Given the description of an element on the screen output the (x, y) to click on. 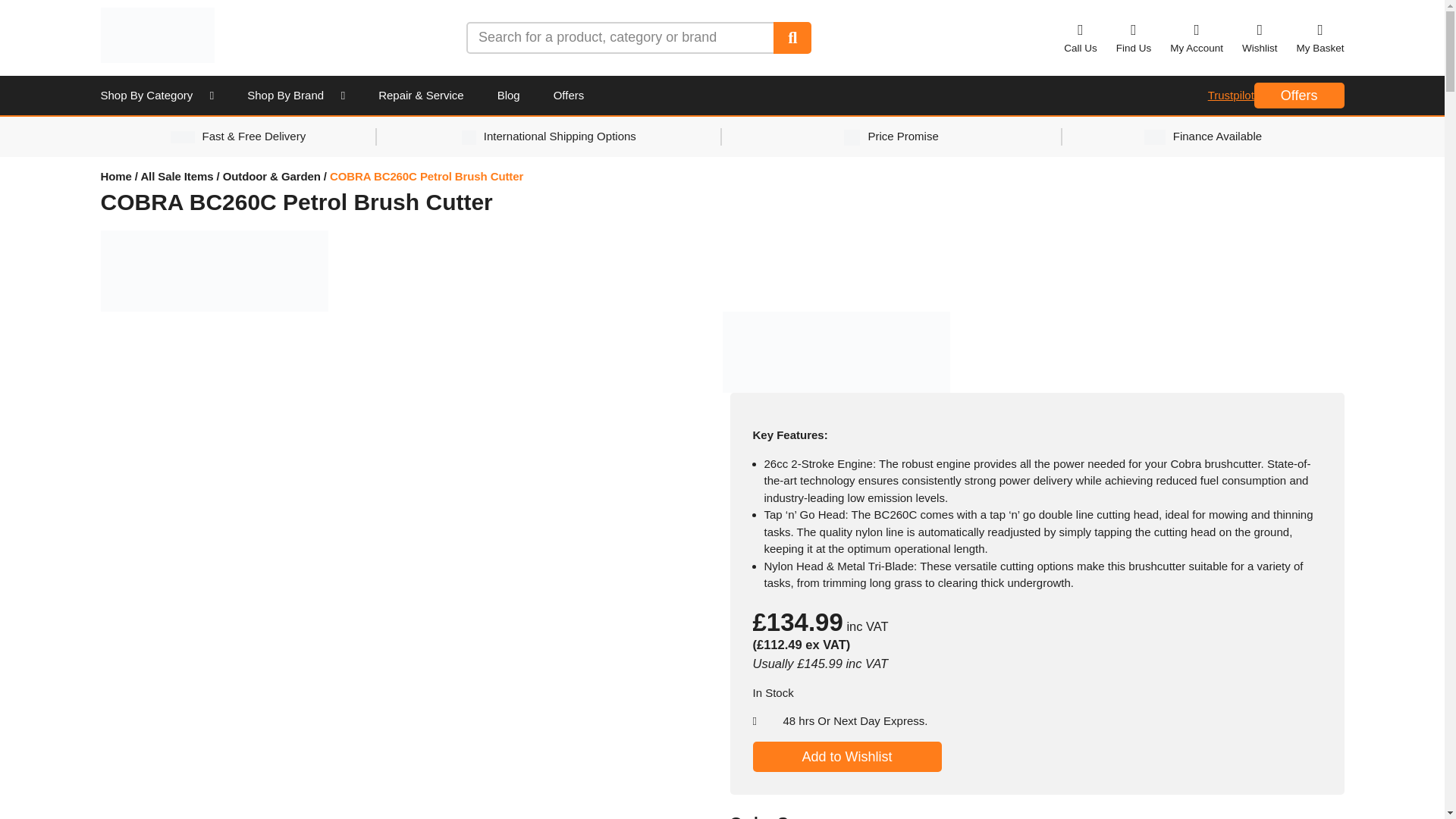
My Basket (1319, 37)
Call Us (1080, 37)
Wishlist (1259, 37)
My Account (1196, 37)
Search for: (620, 37)
Find Us (1133, 37)
